Given the description of an element on the screen output the (x, y) to click on. 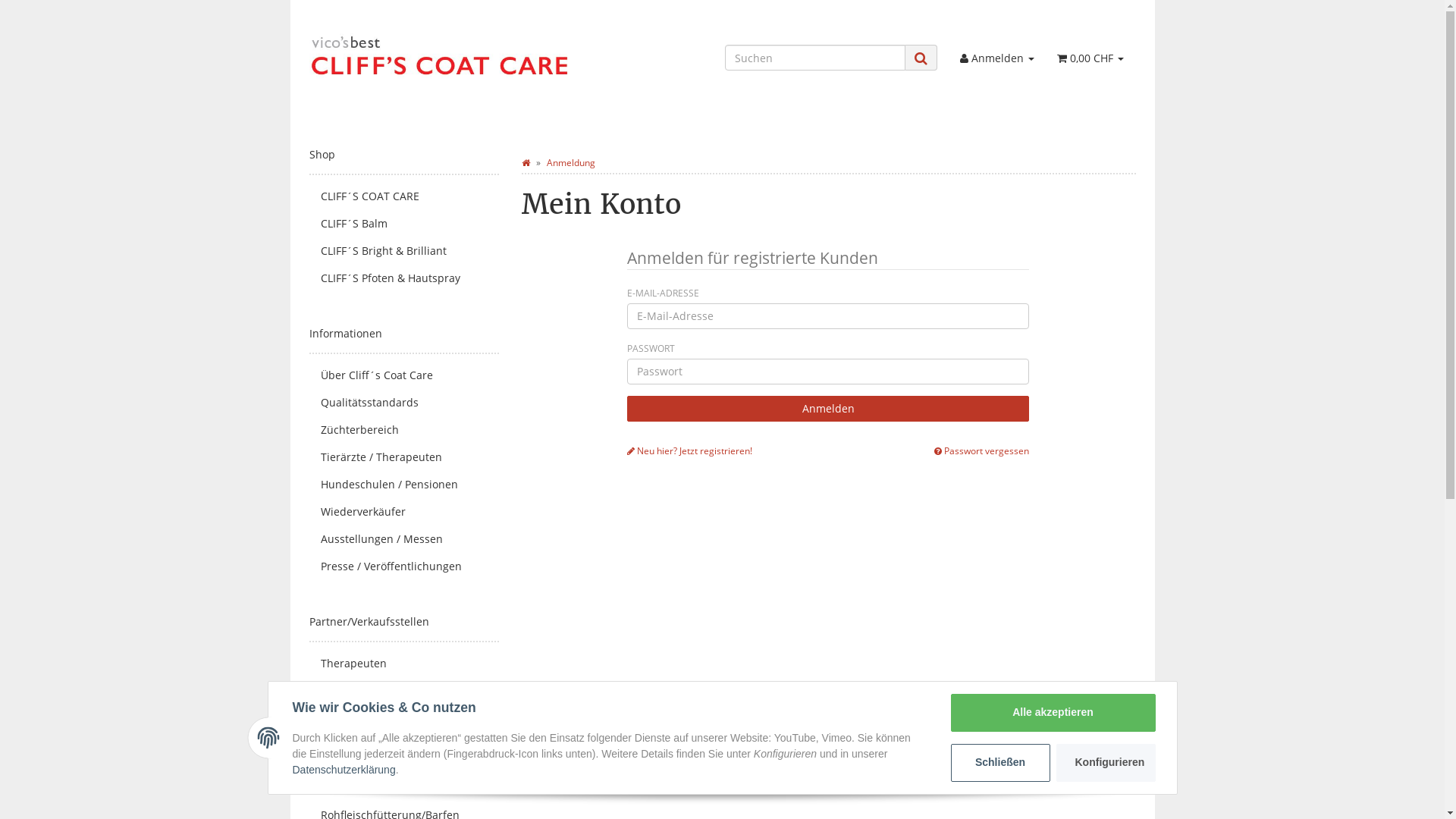
0,00 CHF Element type: text (1090, 58)
Konfigurieren Element type: text (1104, 762)
Hundesalons Element type: text (403, 717)
Therapeuten Element type: text (403, 663)
Anmelden Element type: text (828, 408)
Alle akzeptieren Element type: text (1052, 712)
Anmeldung Element type: text (570, 162)
Startseite Element type: hover (525, 162)
Ausstellungen / Messen Element type: text (403, 538)
Passwort vergessen Element type: text (981, 450)
Hundeschulen / Pensionen Element type: text (403, 484)
Tierbedarf & Shops Element type: text (403, 690)
Anmelden Element type: text (996, 58)
Neu hier? Jetzt registrieren! Element type: text (689, 450)
